Given the description of an element on the screen output the (x, y) to click on. 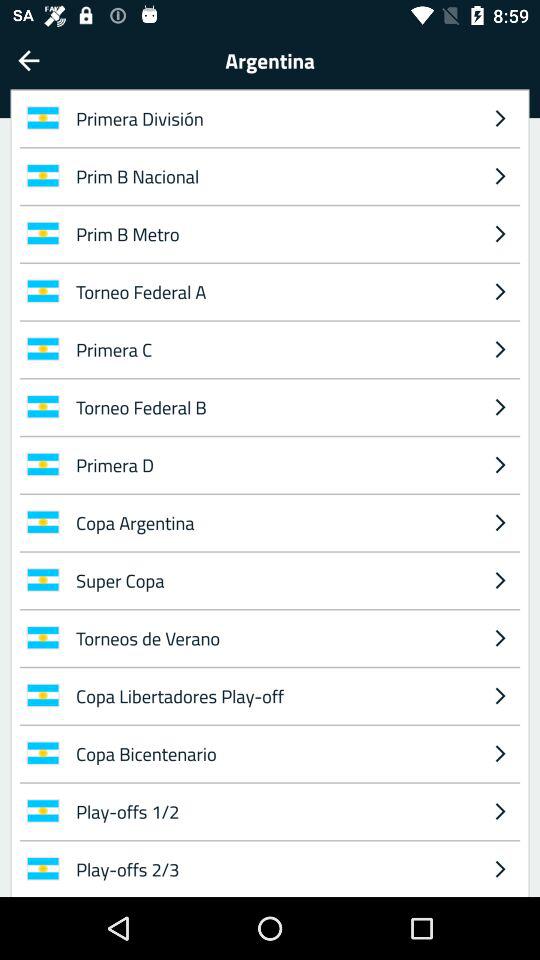
select icon below copa libertadores play item (273, 753)
